Given the description of an element on the screen output the (x, y) to click on. 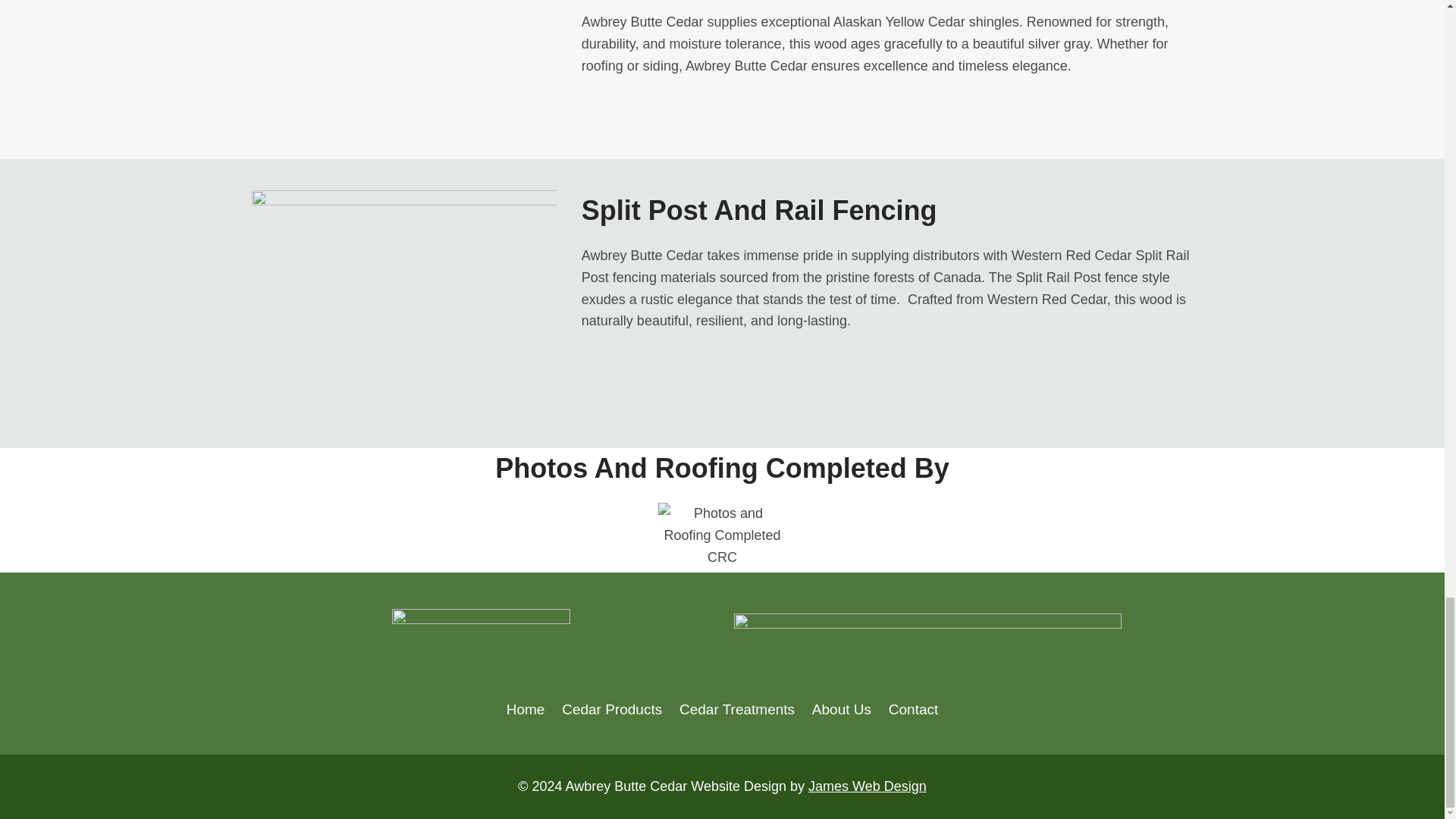
Contact (912, 709)
James Web Design (867, 785)
Split Post And Rail Fencing (758, 210)
Photos and Roofing Completed by CRC (722, 537)
About Us (841, 709)
Cedar Products (612, 709)
Cedar Treatments (737, 709)
Home (525, 709)
